Given the description of an element on the screen output the (x, y) to click on. 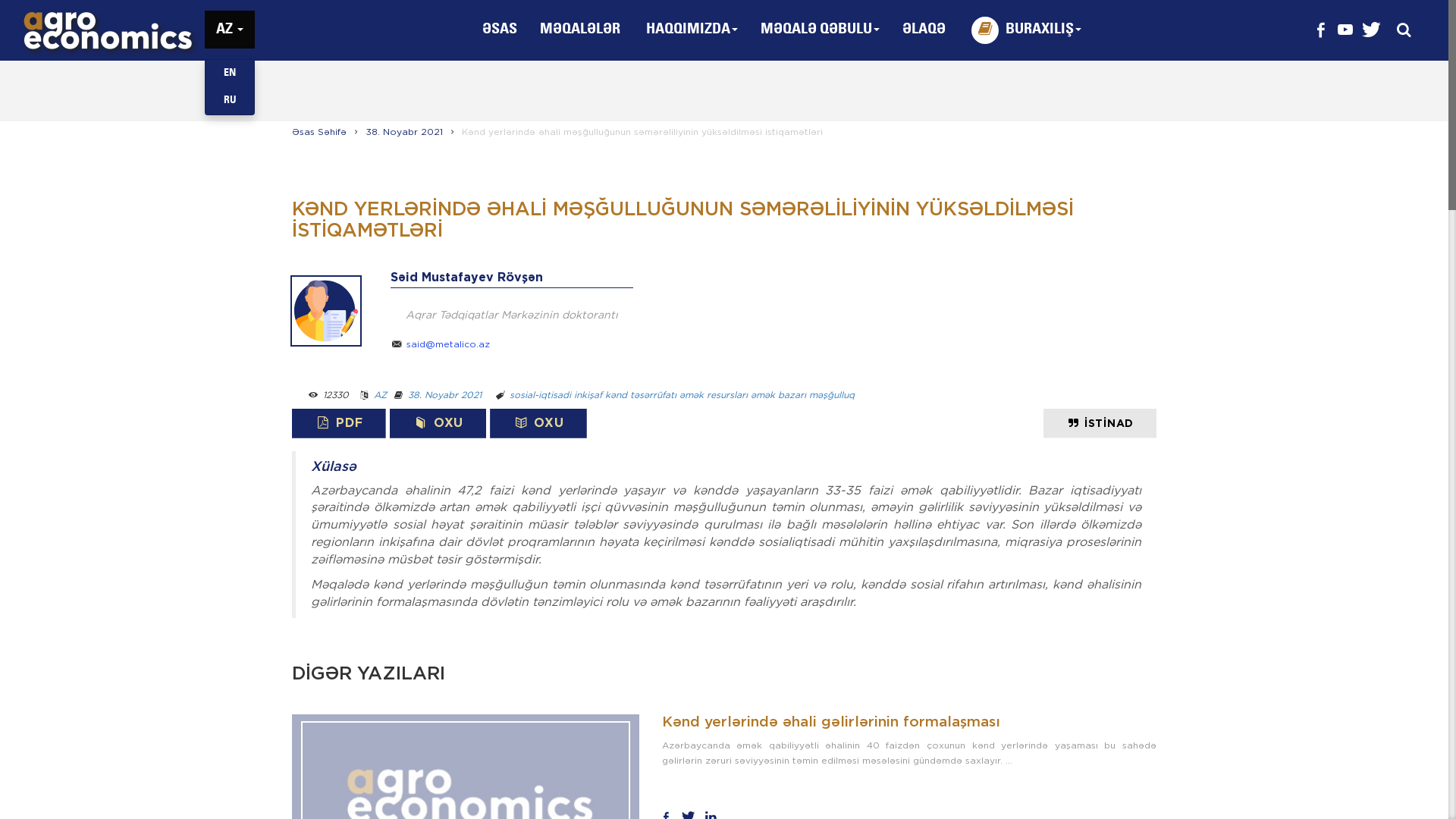
38. Noyabr 2021 Element type: text (444, 394)
OXU Element type: text (537, 423)
38. Noyabr 2021 Element type: text (403, 131)
said@metalico.az Element type: text (447, 343)
HAQQIMIZDA Element type: text (691, 29)
PDF Element type: text (338, 423)
RU Element type: text (229, 100)
EN Element type: text (229, 73)
AZ Element type: text (379, 394)
OXU Element type: text (437, 423)
AZ Element type: text (229, 29)
